Given the description of an element on the screen output the (x, y) to click on. 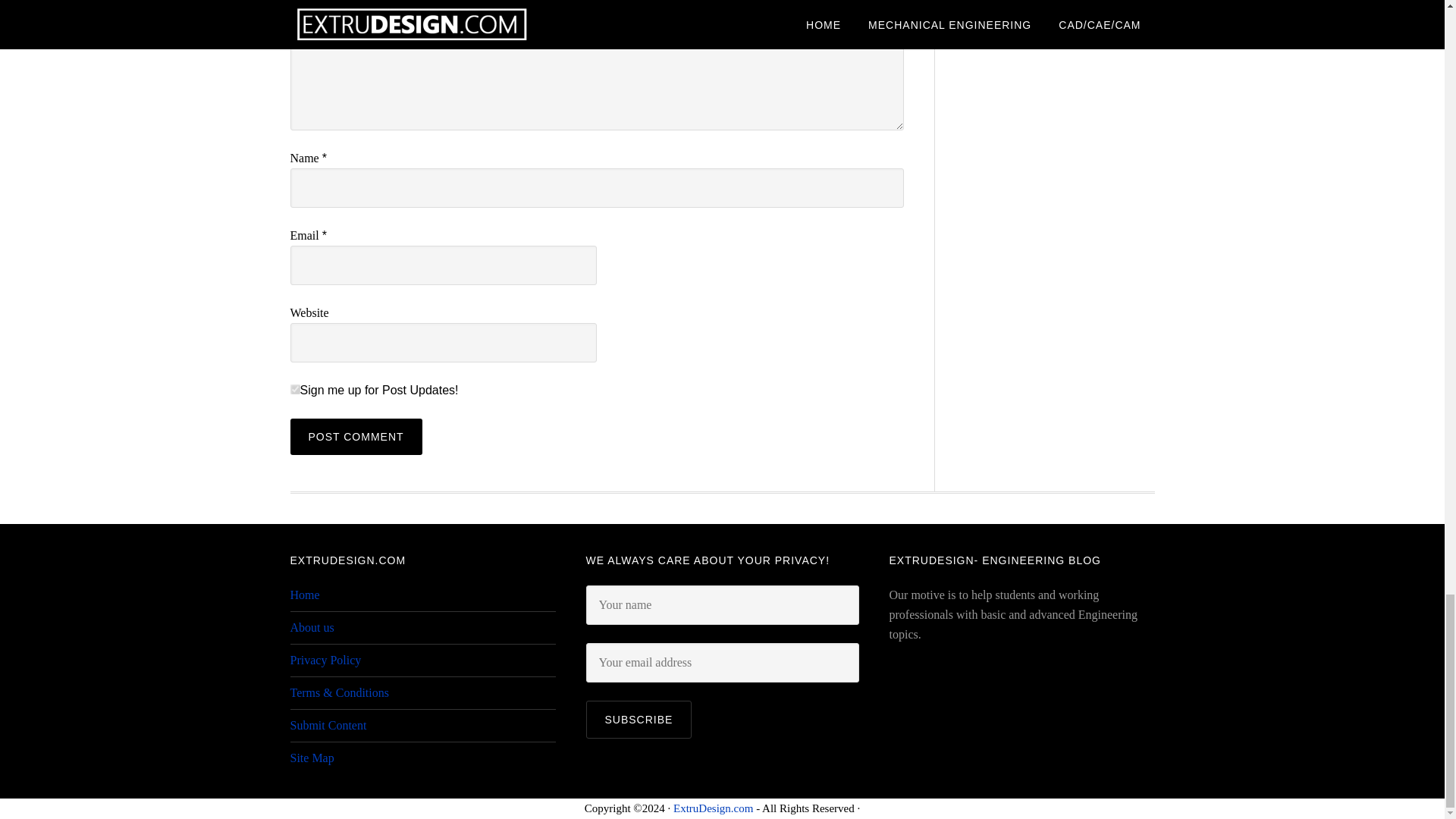
DMCA.com Protection Status (964, 702)
Post Comment (355, 436)
1 (294, 388)
Subscribe (638, 719)
